Given the description of an element on the screen output the (x, y) to click on. 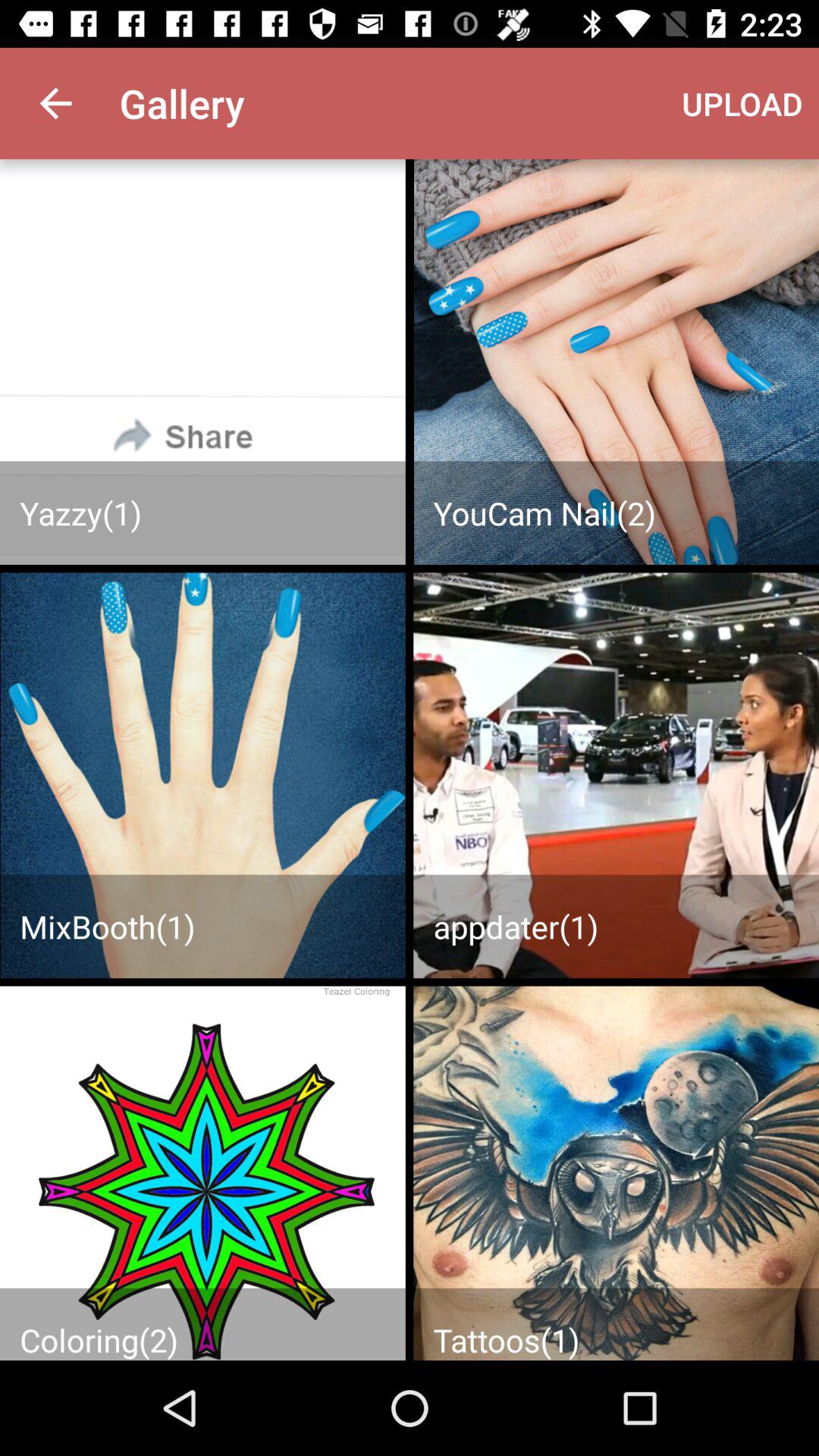
select album (202, 361)
